Given the description of an element on the screen output the (x, y) to click on. 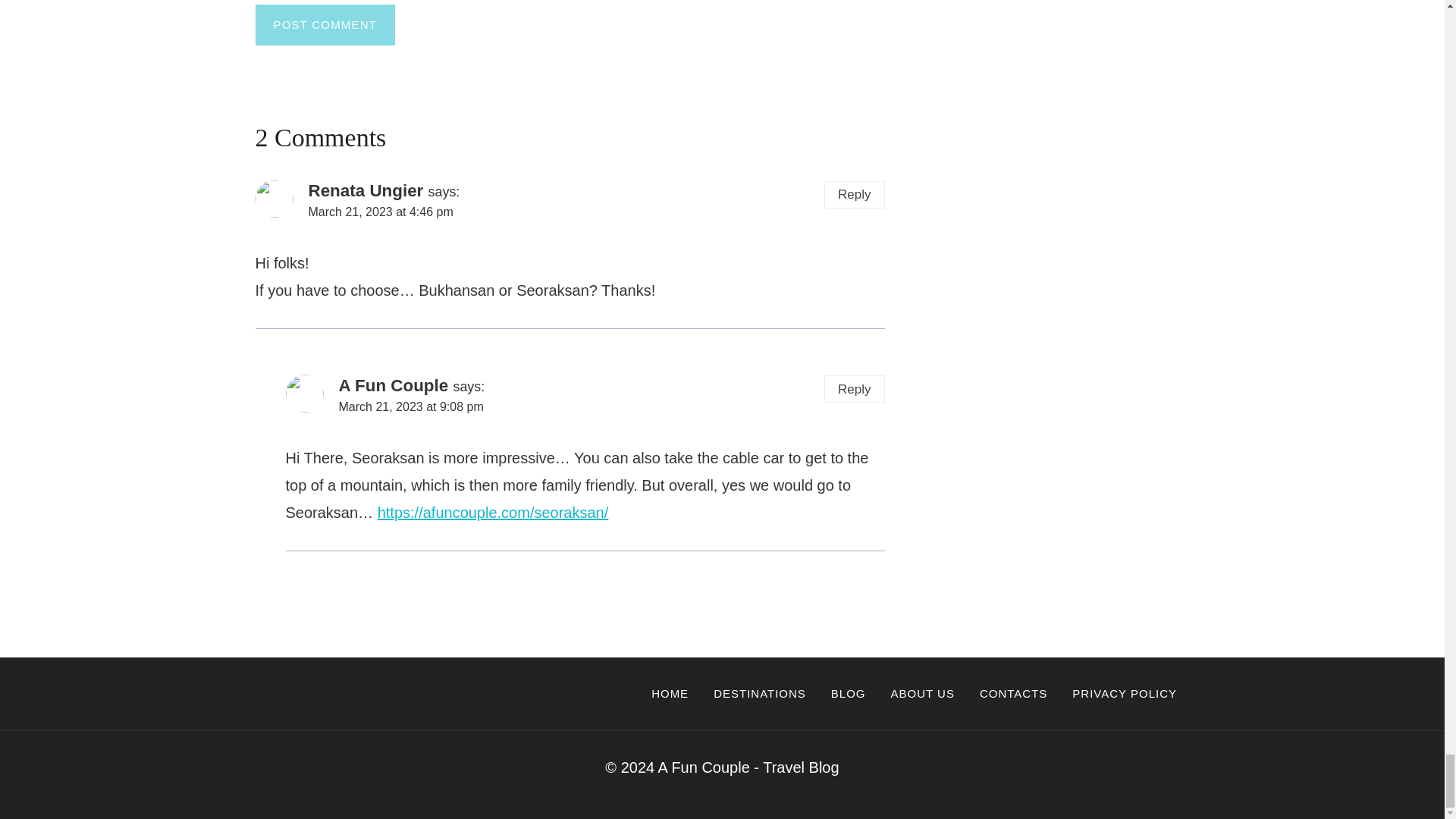
Post Comment (324, 24)
